Given the description of an element on the screen output the (x, y) to click on. 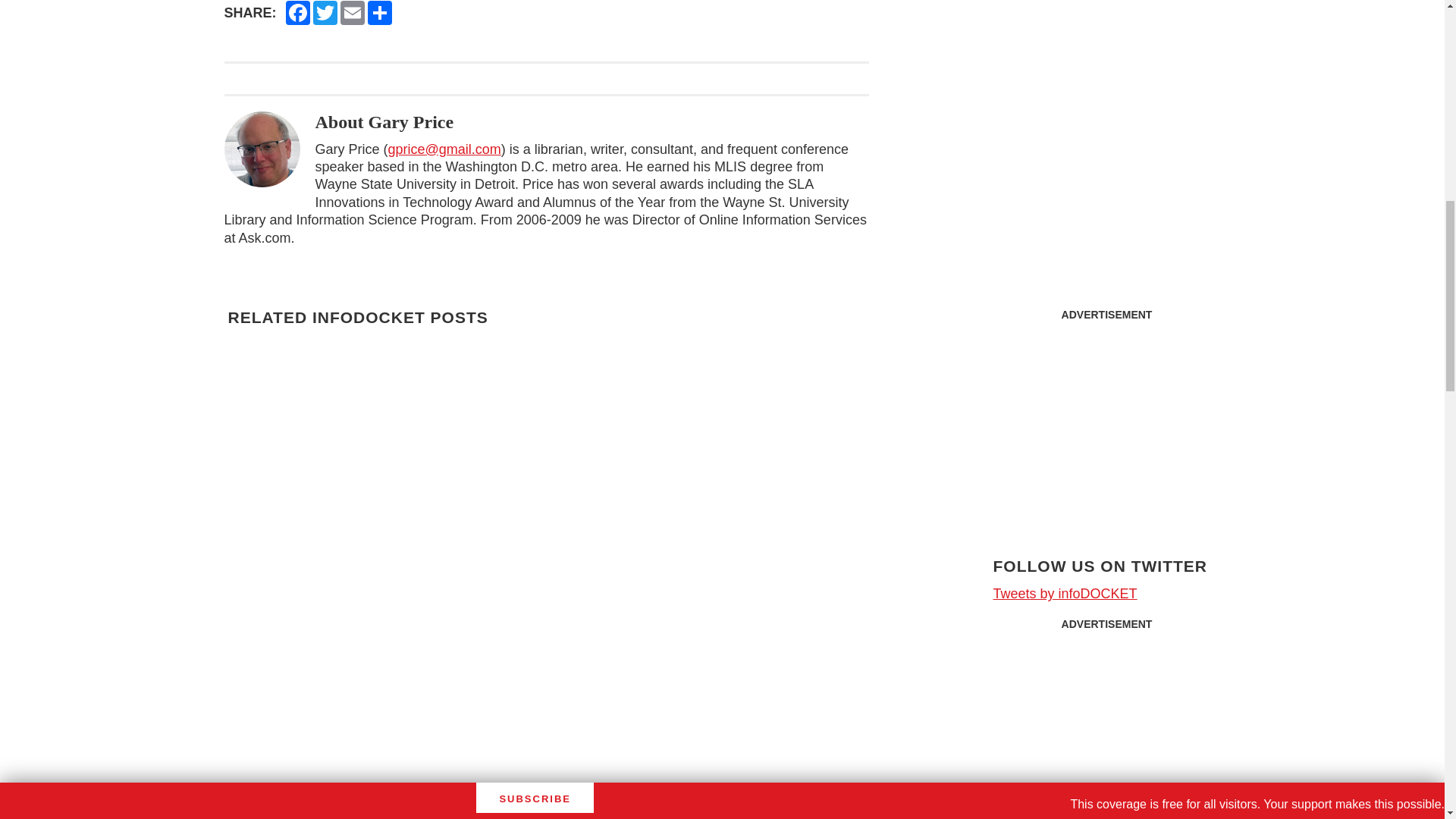
3rd party ad content (1106, 76)
3rd party ad content (1106, 728)
3rd party ad content (1106, 423)
